Given the description of an element on the screen output the (x, y) to click on. 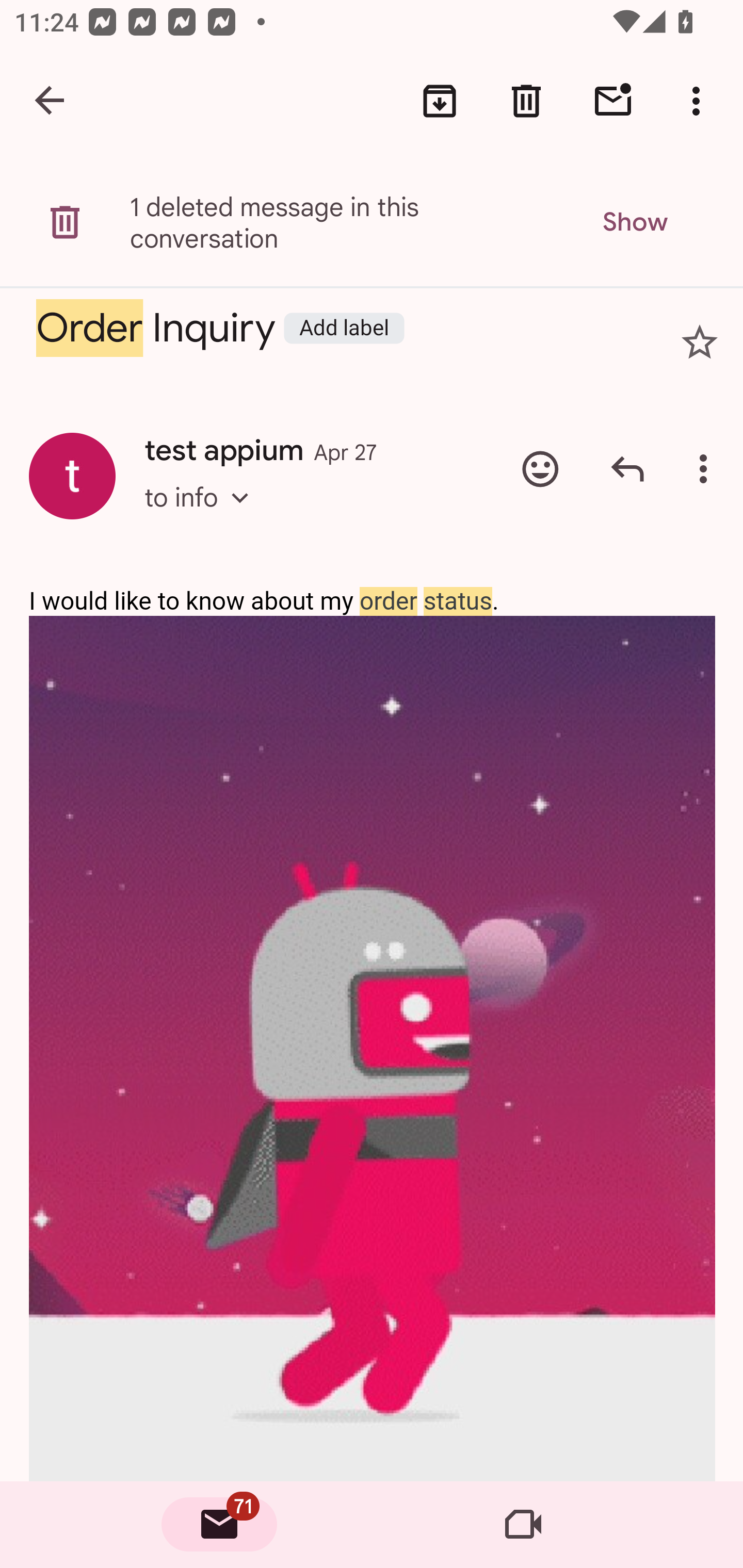
Navigate up (50, 101)
Archive (439, 101)
Delete (525, 101)
Mark unread (612, 101)
More options (699, 101)
Show (634, 222)
Add star (699, 342)
Add emoji reaction (540, 468)
Reply (626, 468)
More options (706, 468)
Show contact information for test appium (71, 475)
to info (202, 515)
Meet (523, 1524)
